Given the description of an element on the screen output the (x, y) to click on. 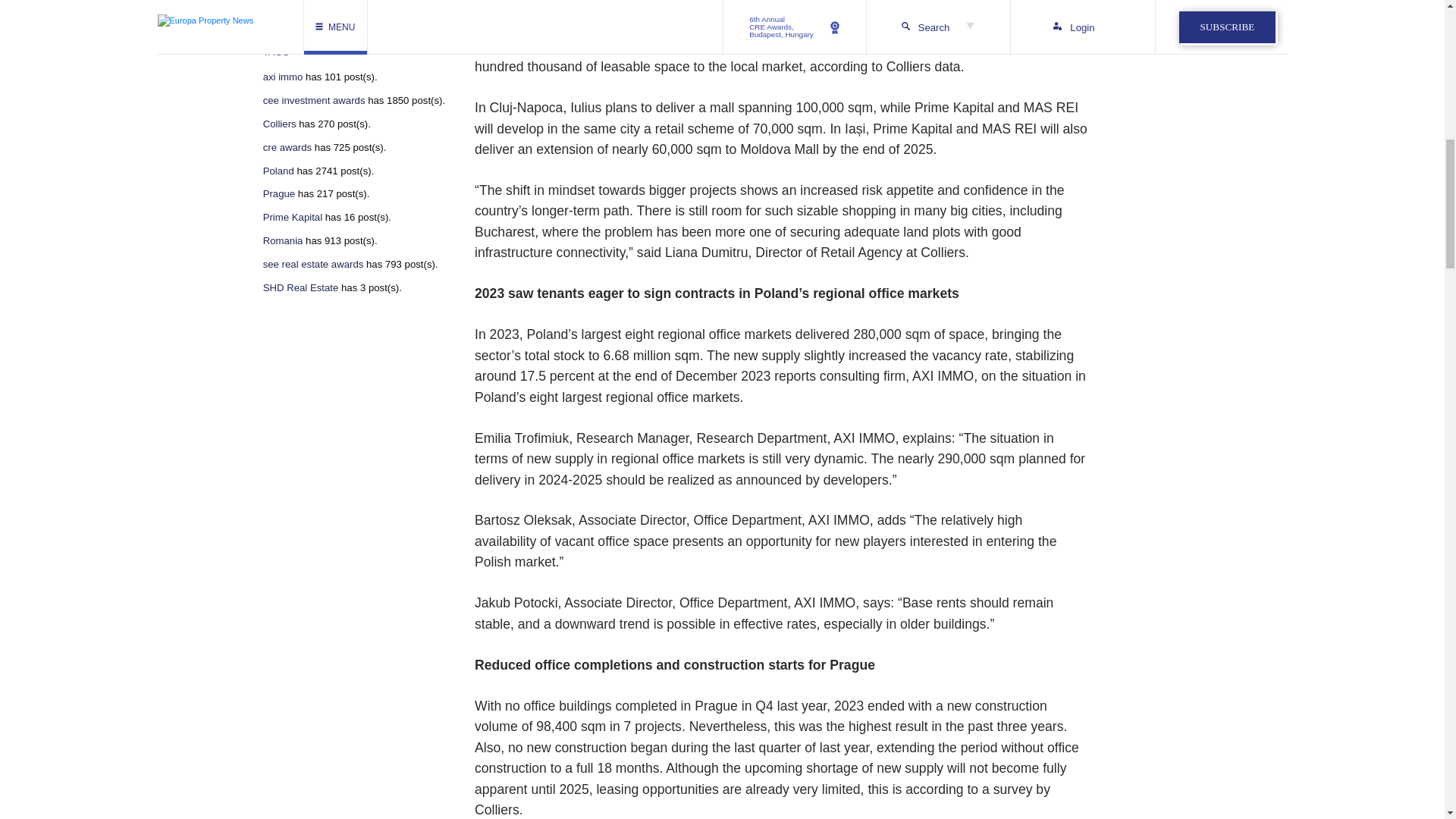
axi immo (282, 77)
View all posts in SHD Real Estate (301, 287)
View all posts in cre awards (288, 147)
View all posts in Prime Kapital (292, 217)
cee investment awards (314, 101)
Colliers (280, 123)
View all posts in axi immo (282, 77)
Prime Kapital (292, 217)
View all posts in Prague (279, 193)
View all posts in cee investment awards (314, 101)
